Given the description of an element on the screen output the (x, y) to click on. 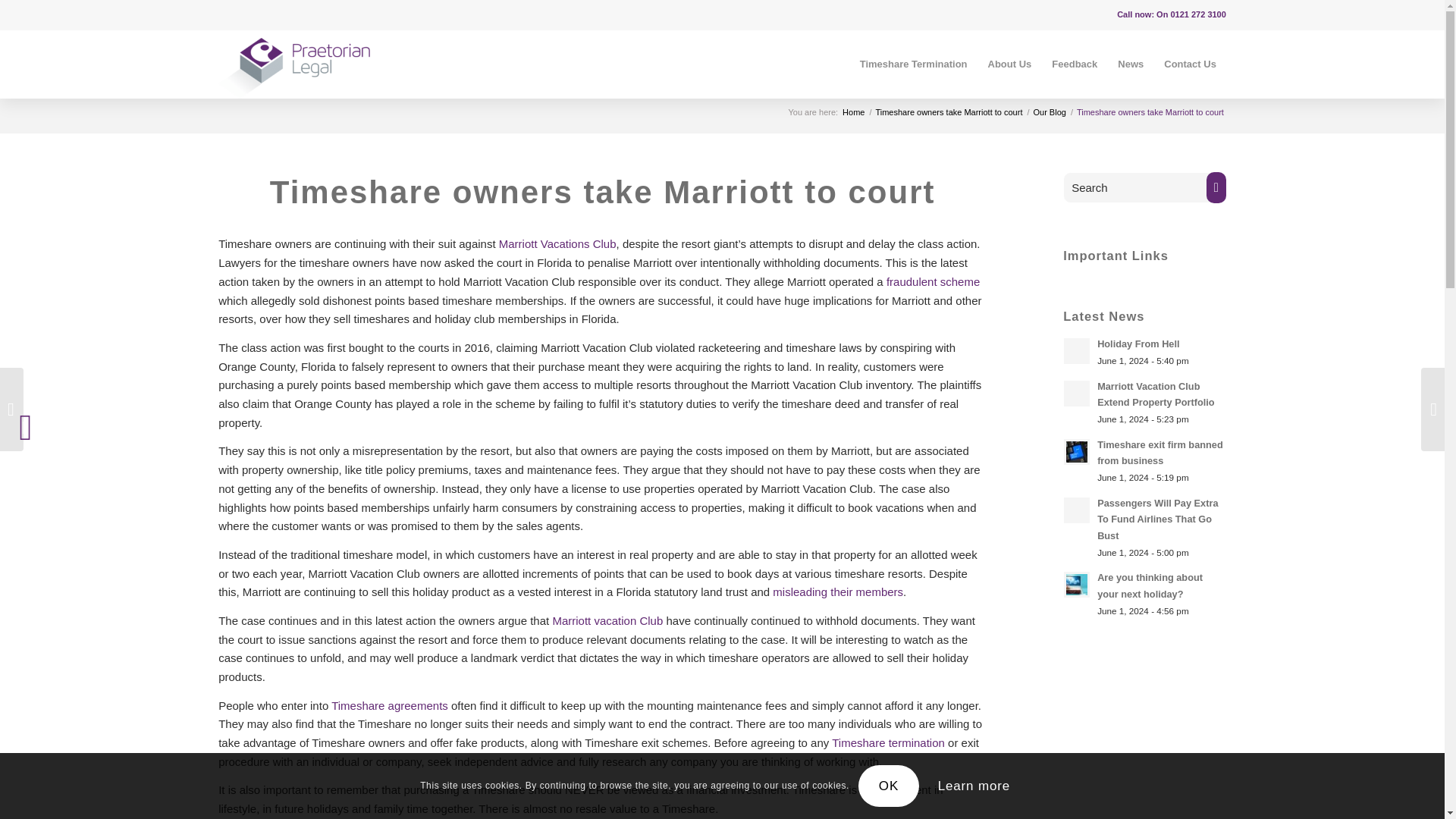
Timeshare owners take Marriott to court (602, 191)
Praetorian Legal: Timeshare Termination (853, 112)
About Us (1009, 64)
Home (853, 112)
fraudulent scheme (932, 281)
Timeshare termination (887, 742)
misleading their members (837, 591)
Marriott Vacations Club (557, 243)
Timeshare Termination (913, 64)
Timeshare owners take Marriott to court (948, 112)
